Given the description of an element on the screen output the (x, y) to click on. 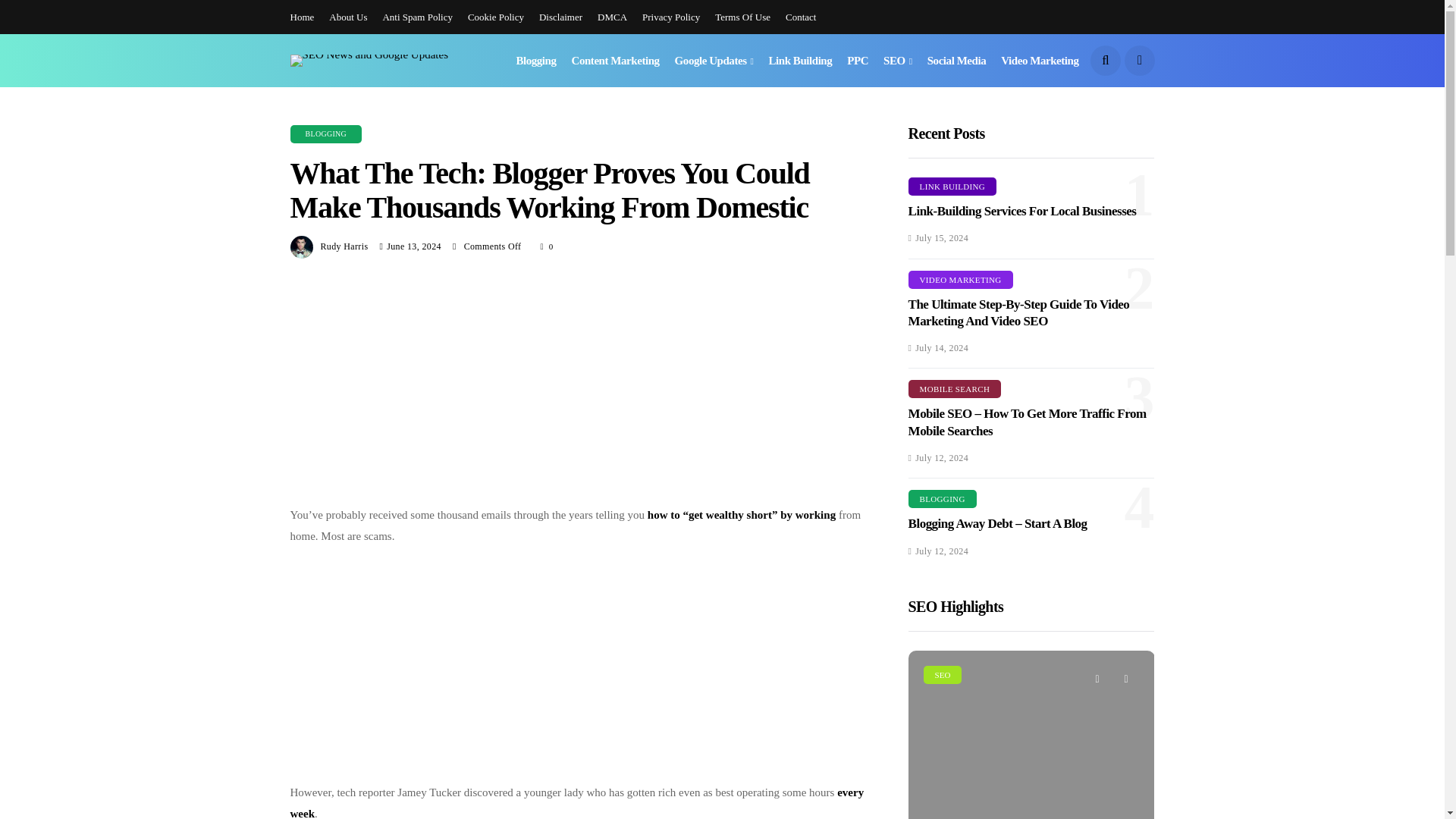
SEO (897, 60)
Contact (800, 17)
PPC (857, 60)
Terms Of Use (742, 17)
Google Updates (714, 60)
Social Media (957, 60)
Like (547, 246)
DMCA (611, 17)
Link Building (800, 60)
Content Marketing (615, 60)
Video Marketing (1039, 60)
Disclaimer (560, 17)
Posts by Rudy Harris (344, 245)
Home (301, 17)
Advertisement (577, 391)
